Given the description of an element on the screen output the (x, y) to click on. 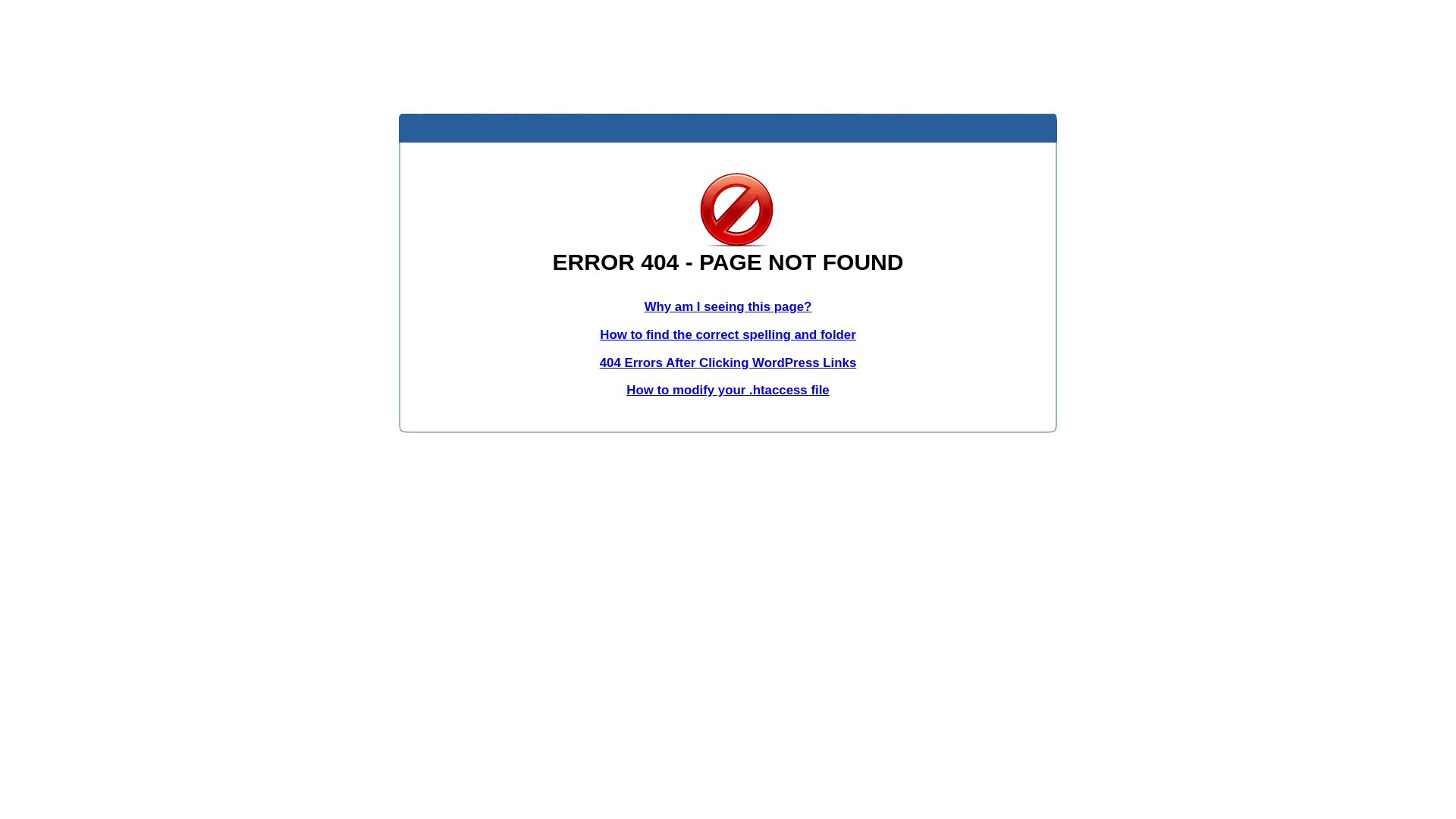
404 Errors After Clicking WordPress Links Element type: text (727, 362)
How to find the correct spelling and folder Element type: text (727, 334)
Why am I seeing this page? Element type: text (728, 306)
How to modify your .htaccess file Element type: text (727, 389)
